Given the description of an element on the screen output the (x, y) to click on. 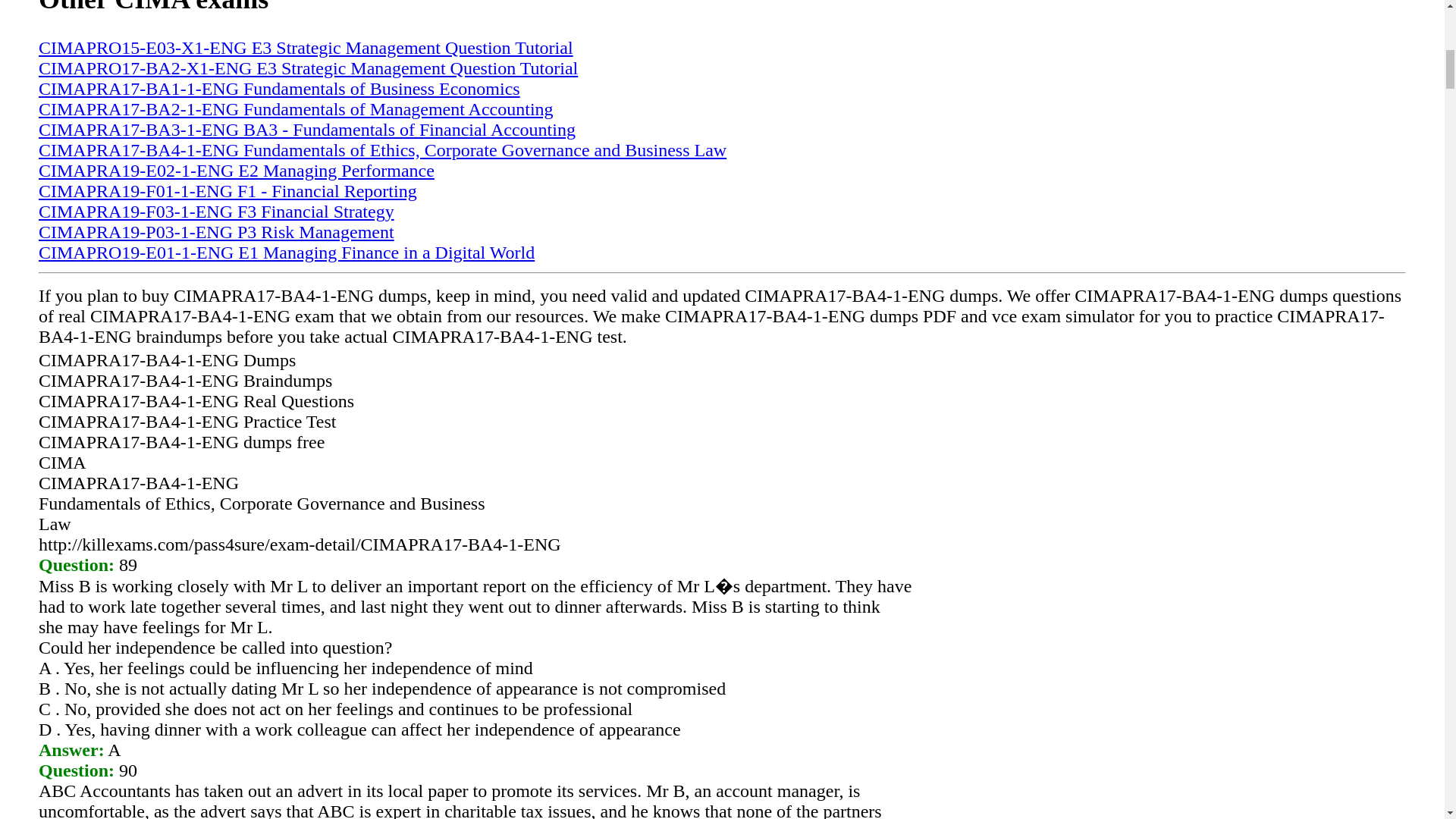
CIMAPRA19-E02-1-ENG E2 Managing Performance (236, 170)
CIMAPRA19-F03-1-ENG F3 Financial Strategy (216, 211)
CIMAPRA19-P03-1-ENG P3 Risk Management (216, 230)
CIMAPRA19-F01-1-ENG F1 - Financial Reporting (227, 189)
CIMAPRA17-BA2-1-ENG Fundamentals of Management Accounting (296, 107)
CIMAPRA17-BA1-1-ENG Fundamentals of Business Economics (279, 88)
CIMAPRO19-E01-1-ENG E1 Managing Finance in a Digital World (286, 252)
